Given the description of an element on the screen output the (x, y) to click on. 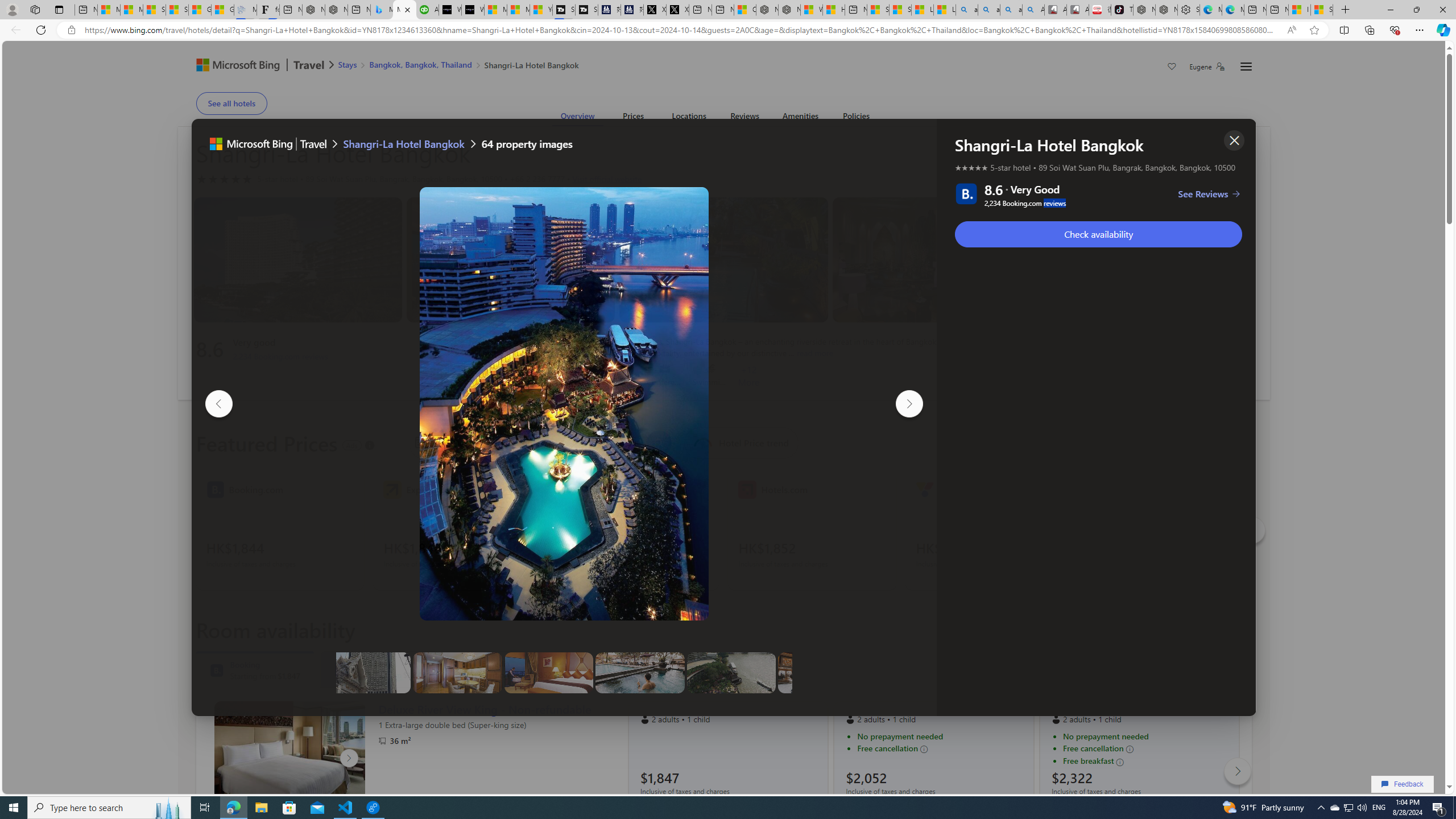
Accounting Software for Accountants, CPAs and Bookkeepers (427, 9)
amazon - Search Images (1010, 9)
Amazon Echo Robot - Search Images (1033, 9)
Microsoft Bing Travel - Stays in Bangkok, Bangkok, Thailand (381, 9)
